Given the description of an element on the screen output the (x, y) to click on. 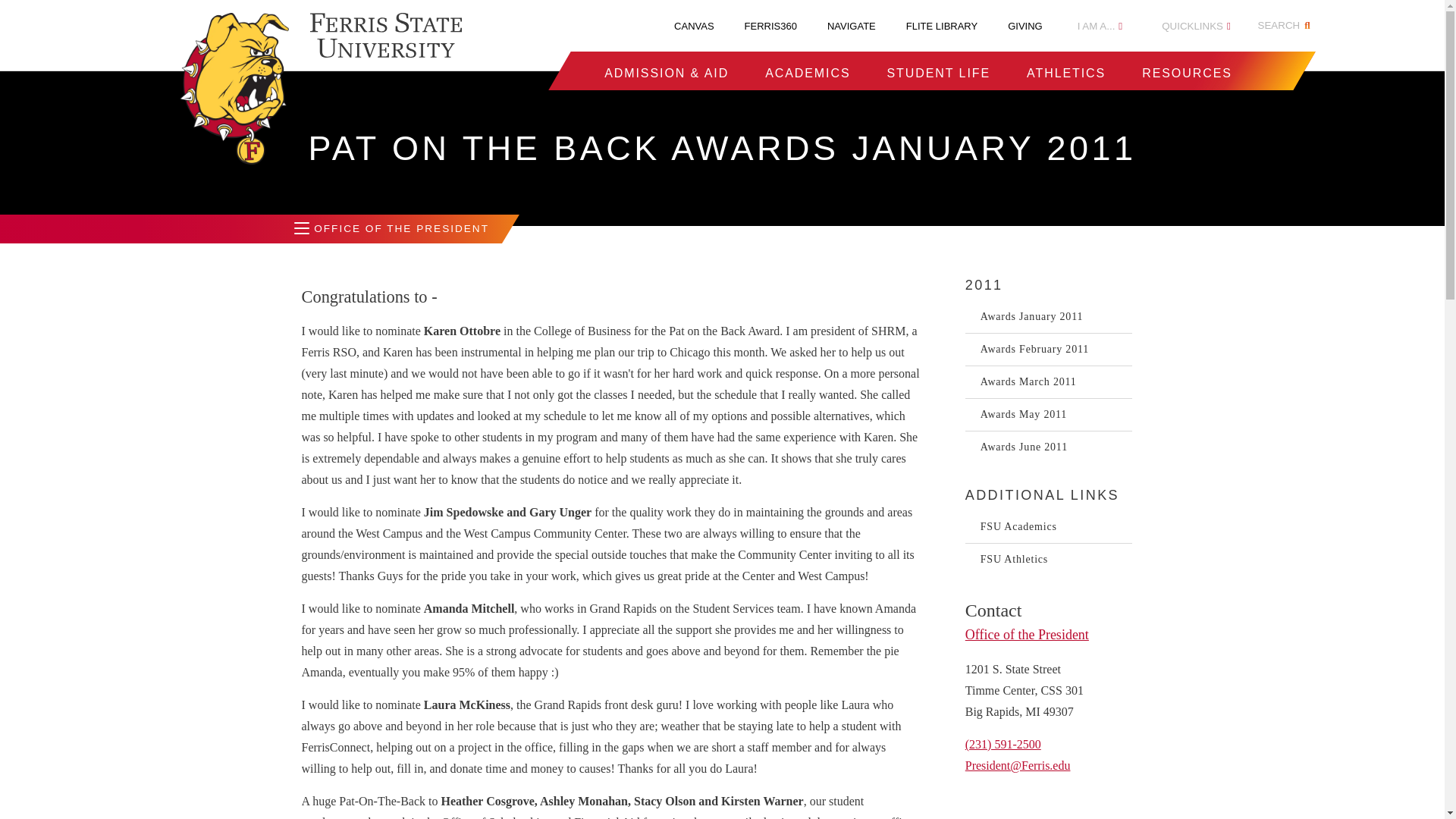
FLITE LIBRARY (940, 25)
NAVIGATE (851, 25)
ACADEMICS (807, 73)
I AM A... (1099, 26)
GIVING (1024, 25)
CANVAS (694, 25)
QUICKLINKS (1195, 26)
FERRIS360 (770, 25)
SEARCH (1285, 25)
